Given the description of an element on the screen output the (x, y) to click on. 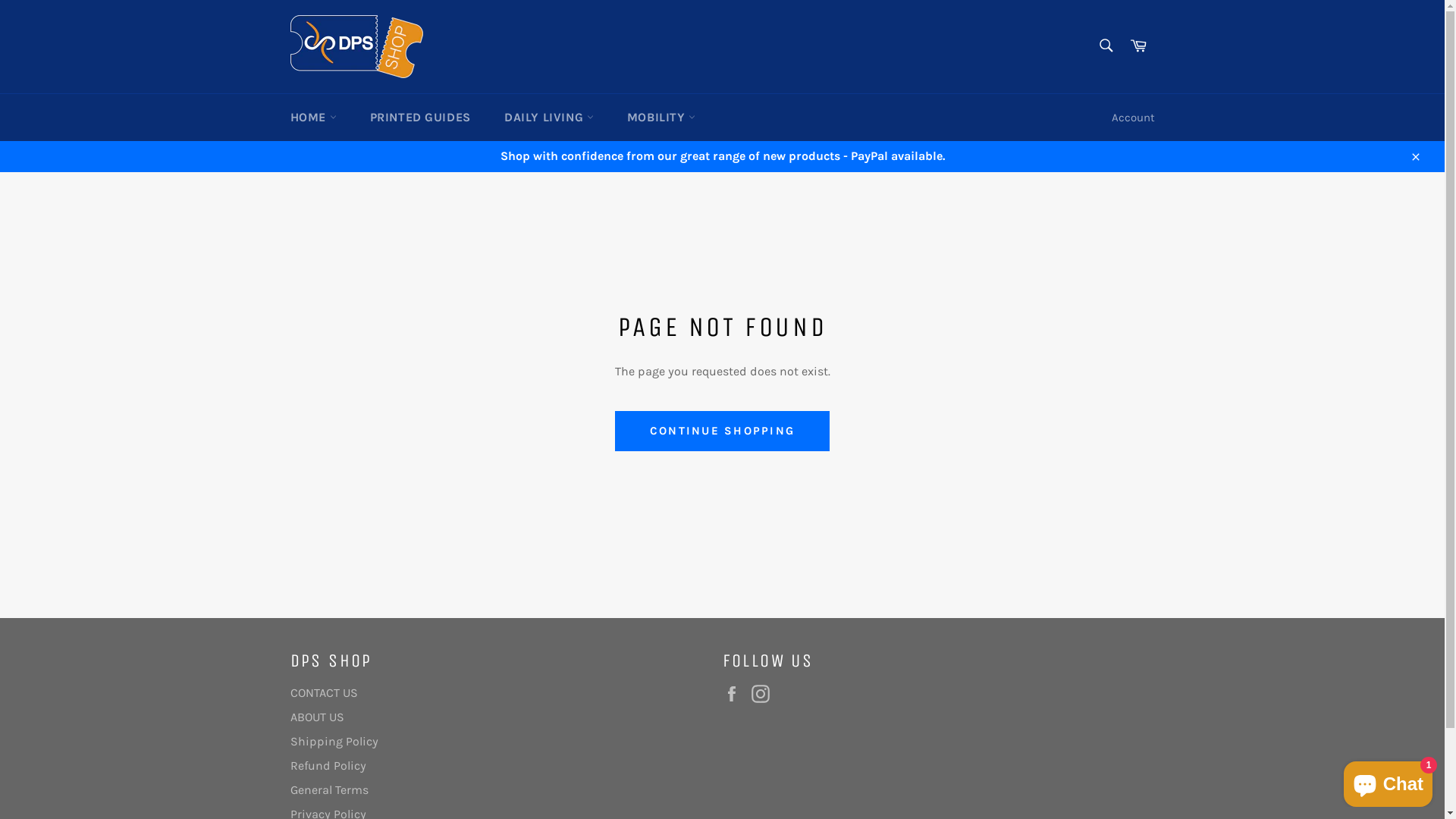
General Terms Element type: text (328, 789)
Shipping Policy Element type: text (333, 741)
Cart Element type: text (1138, 46)
Refund Policy Element type: text (327, 765)
Close Element type: text (1414, 156)
Search Element type: text (1105, 45)
Facebook Element type: text (734, 693)
CONTINUE SHOPPING Element type: text (722, 431)
ABOUT US Element type: text (316, 716)
Instagram Element type: text (763, 693)
Shopify online store chat Element type: hover (1388, 780)
MOBILITY Element type: text (660, 117)
HOME Element type: text (312, 117)
CONTACT US Element type: text (323, 692)
Account Element type: text (1133, 117)
PRINTED GUIDES Element type: text (420, 117)
DAILY LIVING Element type: text (548, 117)
